Given the description of an element on the screen output the (x, y) to click on. 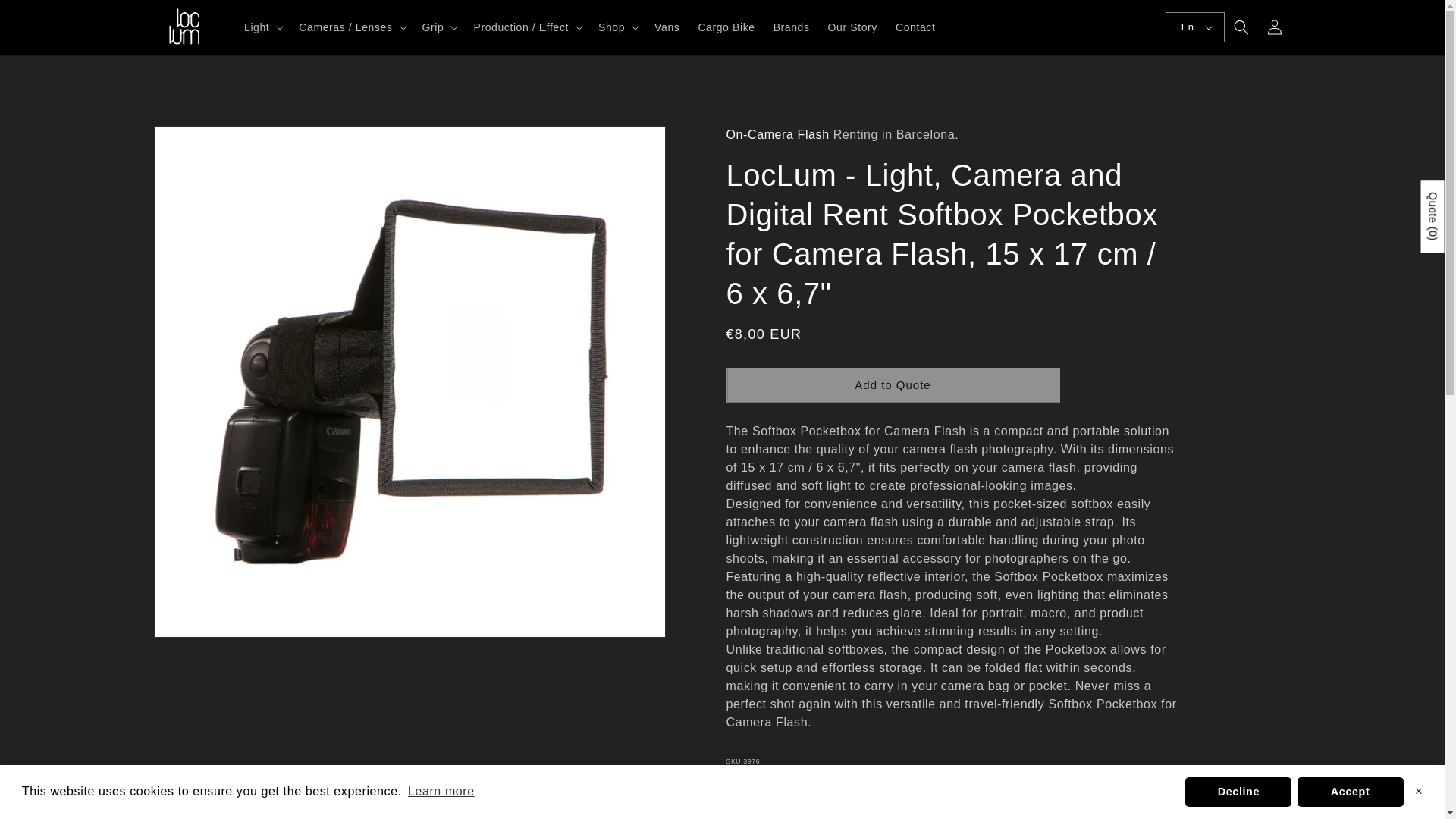
Skip to content (45, 17)
Decline (1238, 791)
On-Camera Flash (777, 133)
Accept (1350, 791)
Learn more (441, 791)
